Given the description of an element on the screen output the (x, y) to click on. 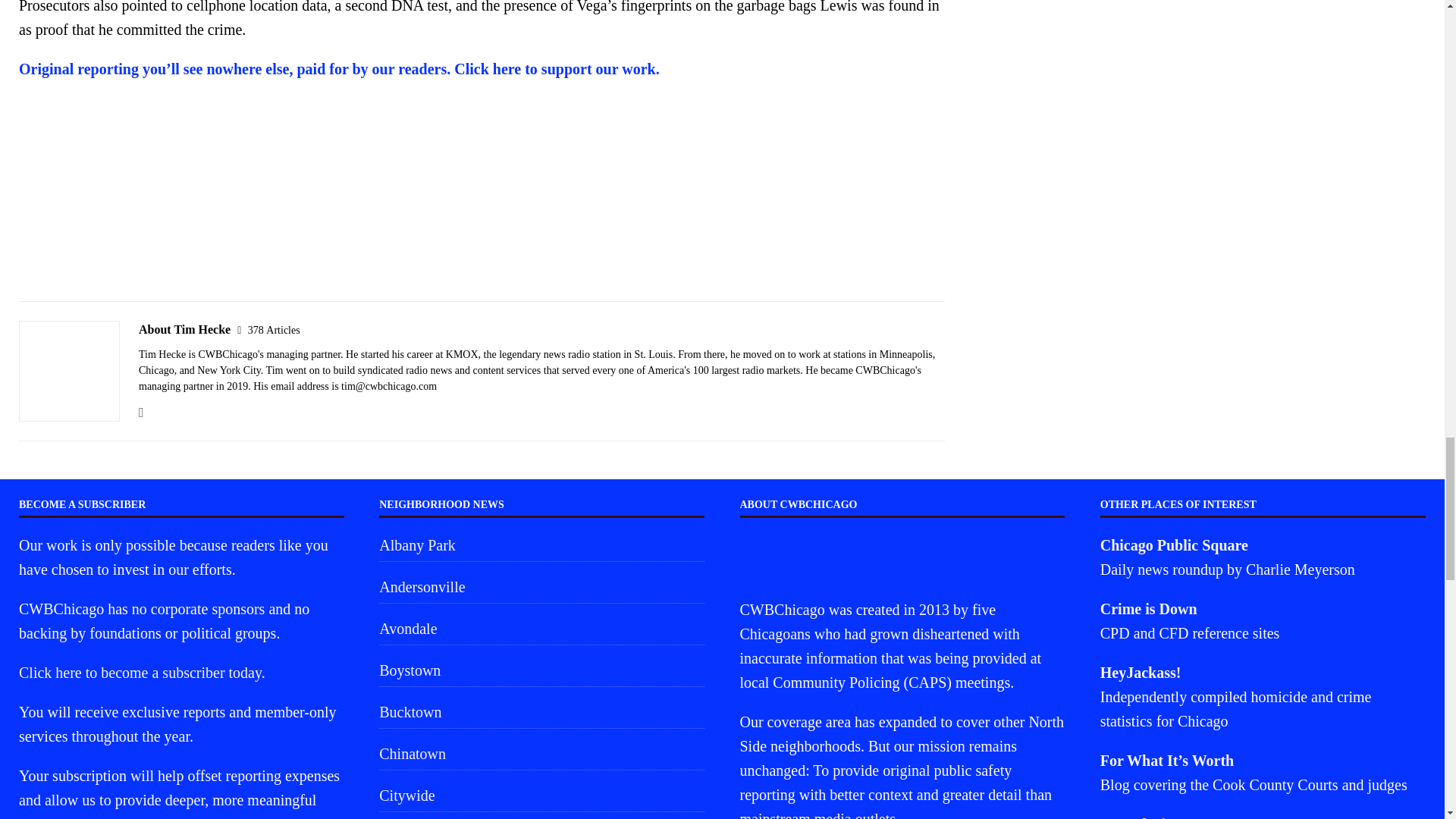
Andersonville (541, 586)
More articles written by Tim Hecke' (273, 329)
Boystown (541, 670)
Chinatown (541, 753)
Avondale (541, 628)
Citywide (541, 795)
Bucktown (541, 712)
Click here to support our work. (556, 68)
Click here to become a subscriber today. (141, 672)
Albany Park (541, 547)
378 Articles (273, 329)
